Given the description of an element on the screen output the (x, y) to click on. 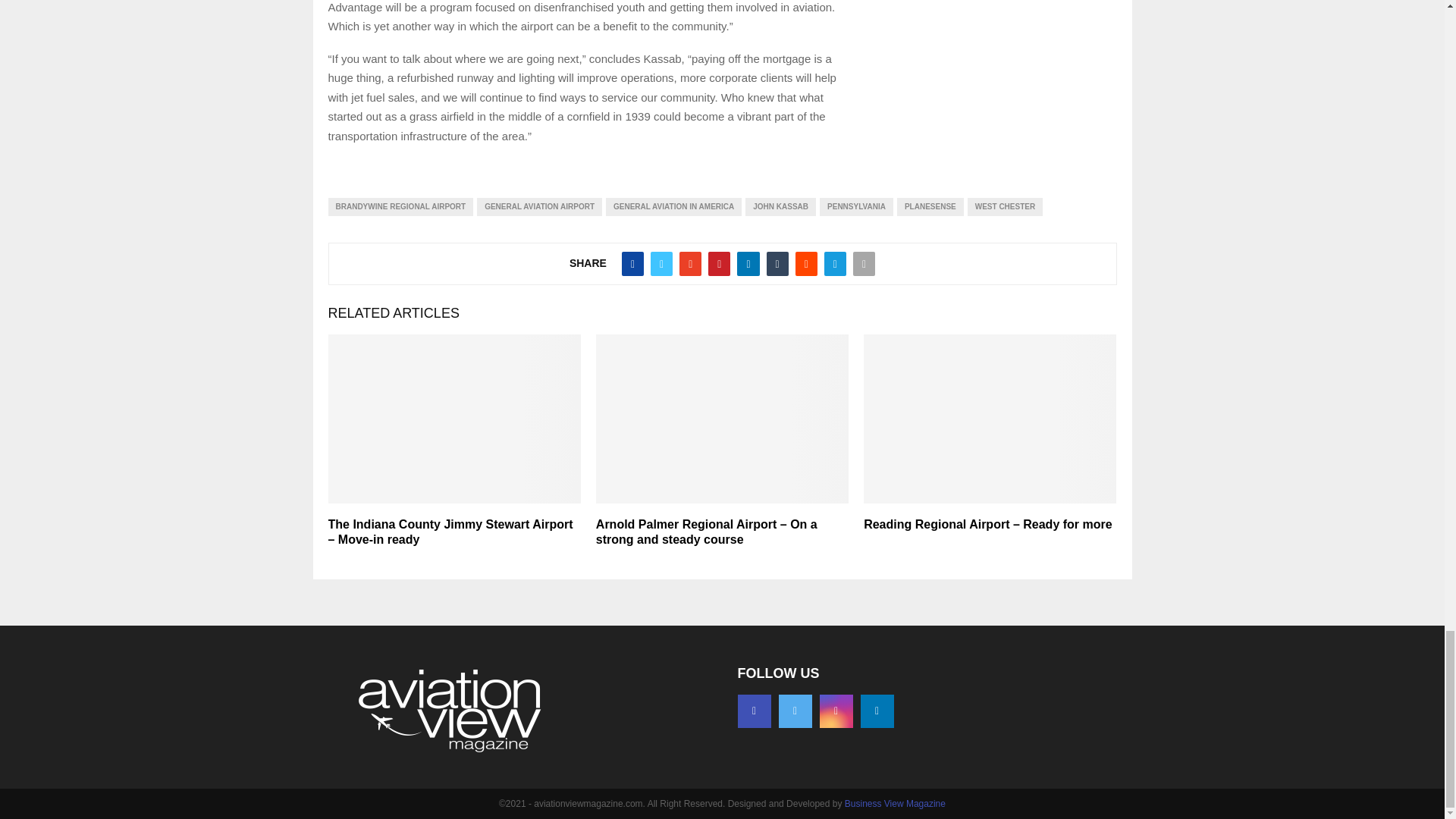
Facebook (753, 711)
Twitter (793, 711)
